Given the description of an element on the screen output the (x, y) to click on. 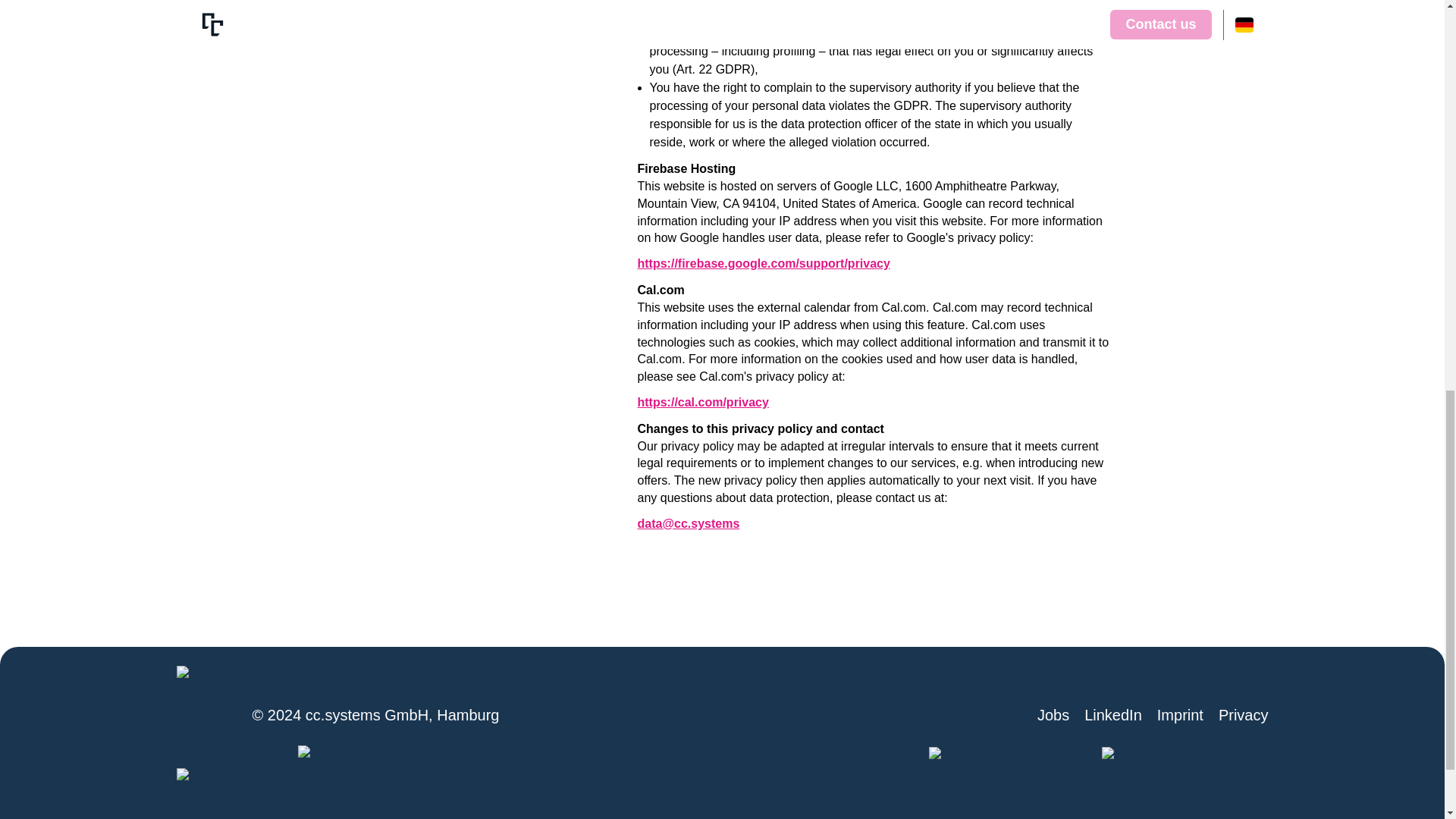
Imprint (1180, 714)
LinkedIn (1112, 714)
Jobs (1052, 714)
Privacy (1243, 714)
